Given the description of an element on the screen output the (x, y) to click on. 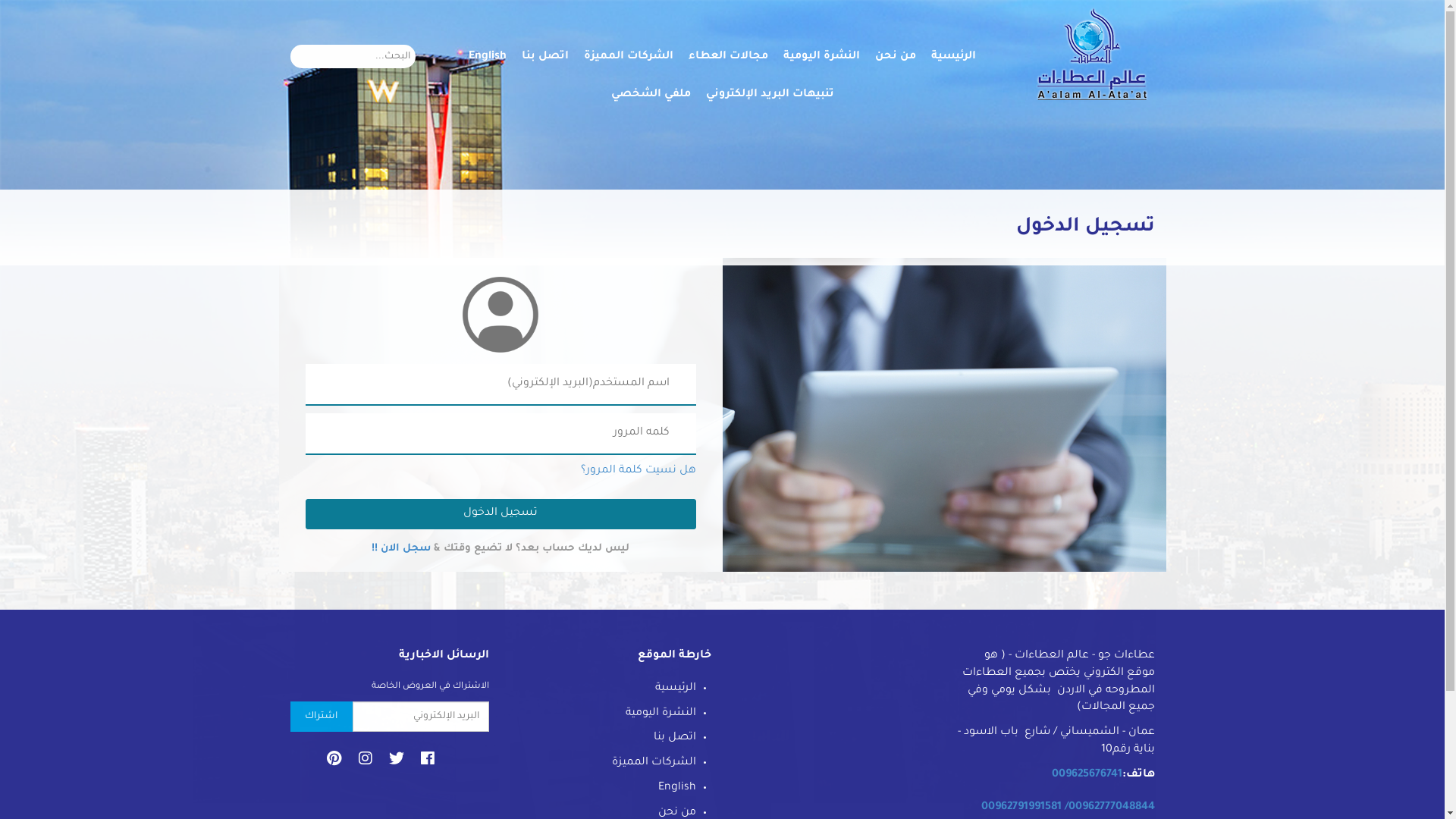
English Element type: text (677, 787)
00962791991581 Element type: text (1021, 807)
Twitter Element type: hover (396, 765)
instagram Element type: hover (365, 765)
009625676741 Element type: text (1086, 774)
Button Element type: text (23, 10)
English Element type: text (487, 56)
Facebook Element type: hover (427, 765)
00962777048844/ Element type: text (1109, 807)
